Given the description of an element on the screen output the (x, y) to click on. 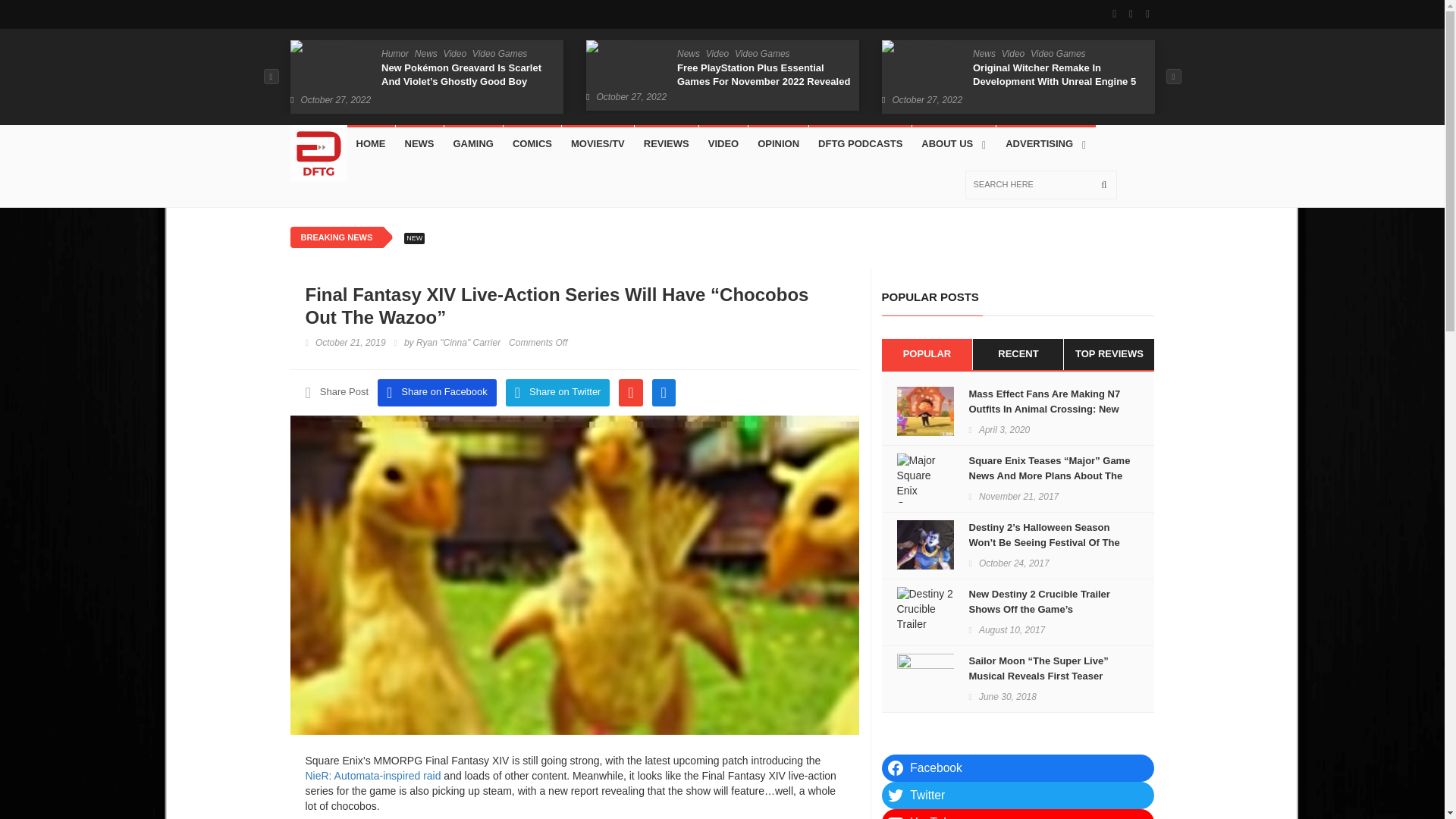
DFTG Podcasts (860, 143)
News (424, 53)
Reviews (666, 143)
Opinion (778, 143)
Humor (393, 53)
Gaming (473, 143)
News (420, 143)
Video Games (762, 53)
Home (370, 143)
